Given the description of an element on the screen output the (x, y) to click on. 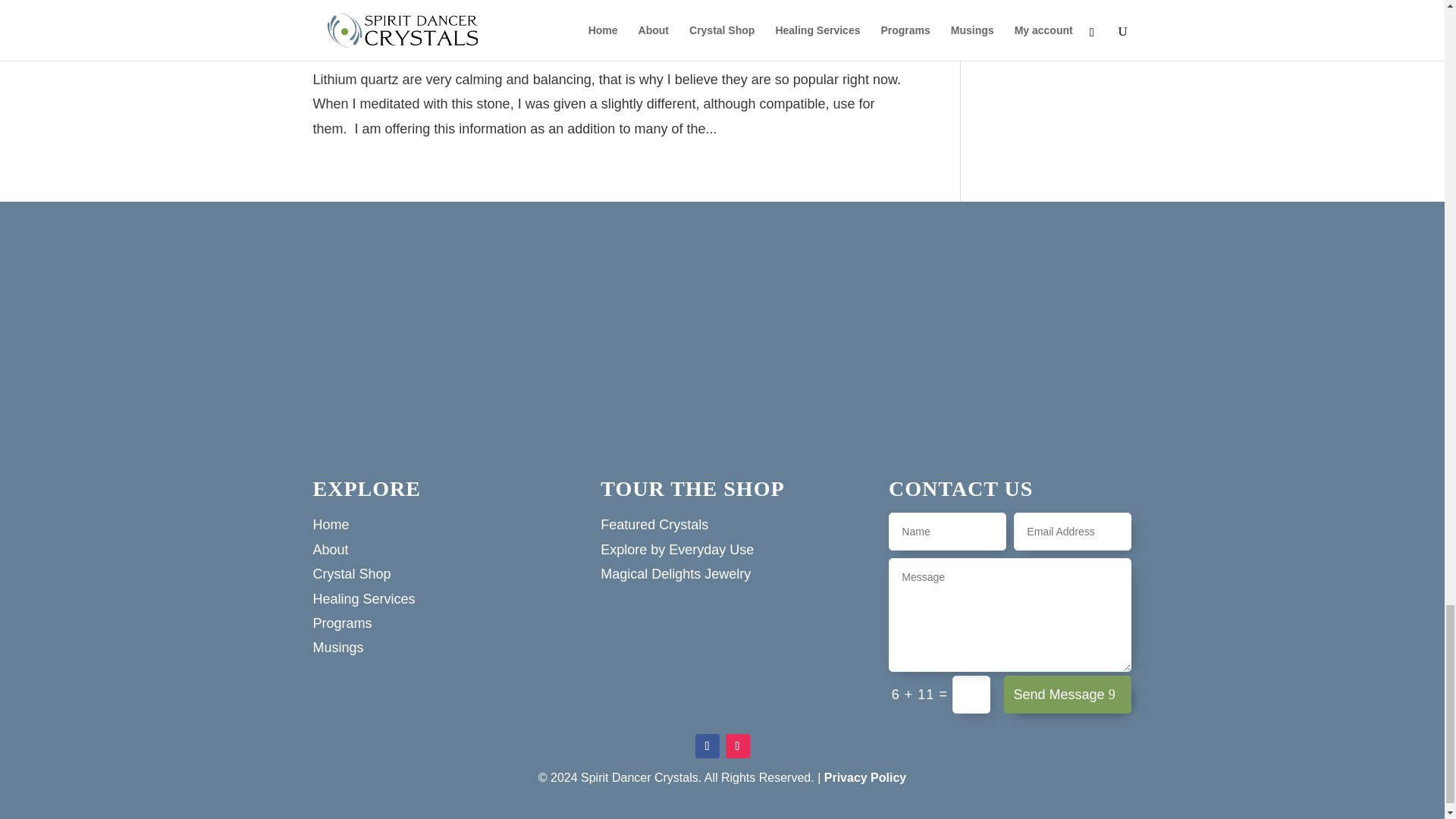
Follow on Instagram (737, 745)
Posts by Jean Tindle (353, 39)
Jean Tindle (353, 39)
Crystal Musings (497, 39)
Follow on Facebook (706, 745)
Lithium Quartz: Opening the Heart Chakra (594, 10)
